Given the description of an element on the screen output the (x, y) to click on. 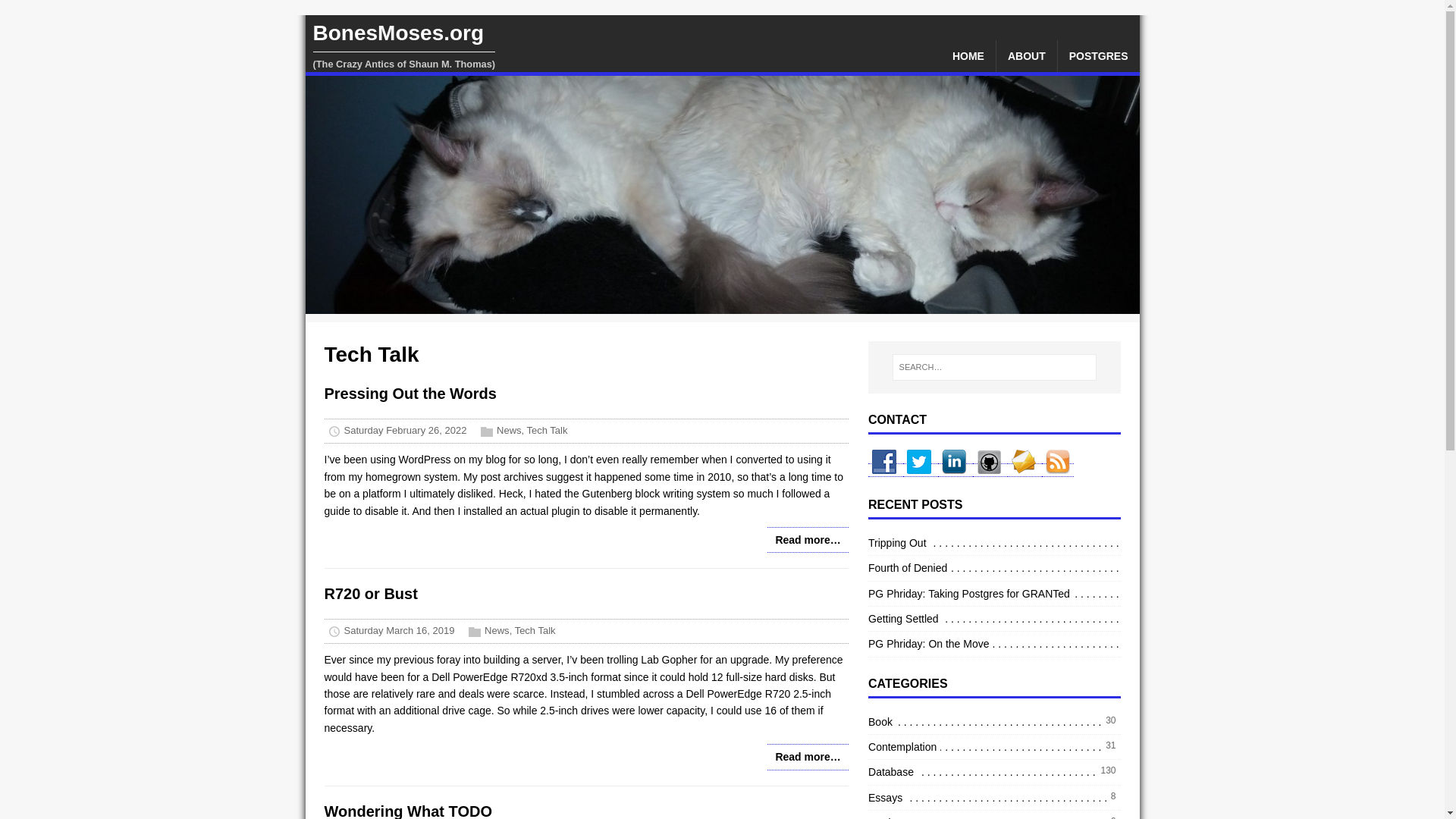
News (508, 430)
RSS (1058, 469)
GitHub (989, 469)
LinkedIn (954, 469)
Getting Settled (904, 618)
Contemplation (903, 746)
Database (892, 771)
ABOUT (1026, 56)
Tripping Out (898, 542)
Essays (886, 797)
PG Phriday: On the Move (929, 643)
POSTGRES (1099, 56)
News (496, 630)
Search (56, 14)
Book (881, 721)
